Given the description of an element on the screen output the (x, y) to click on. 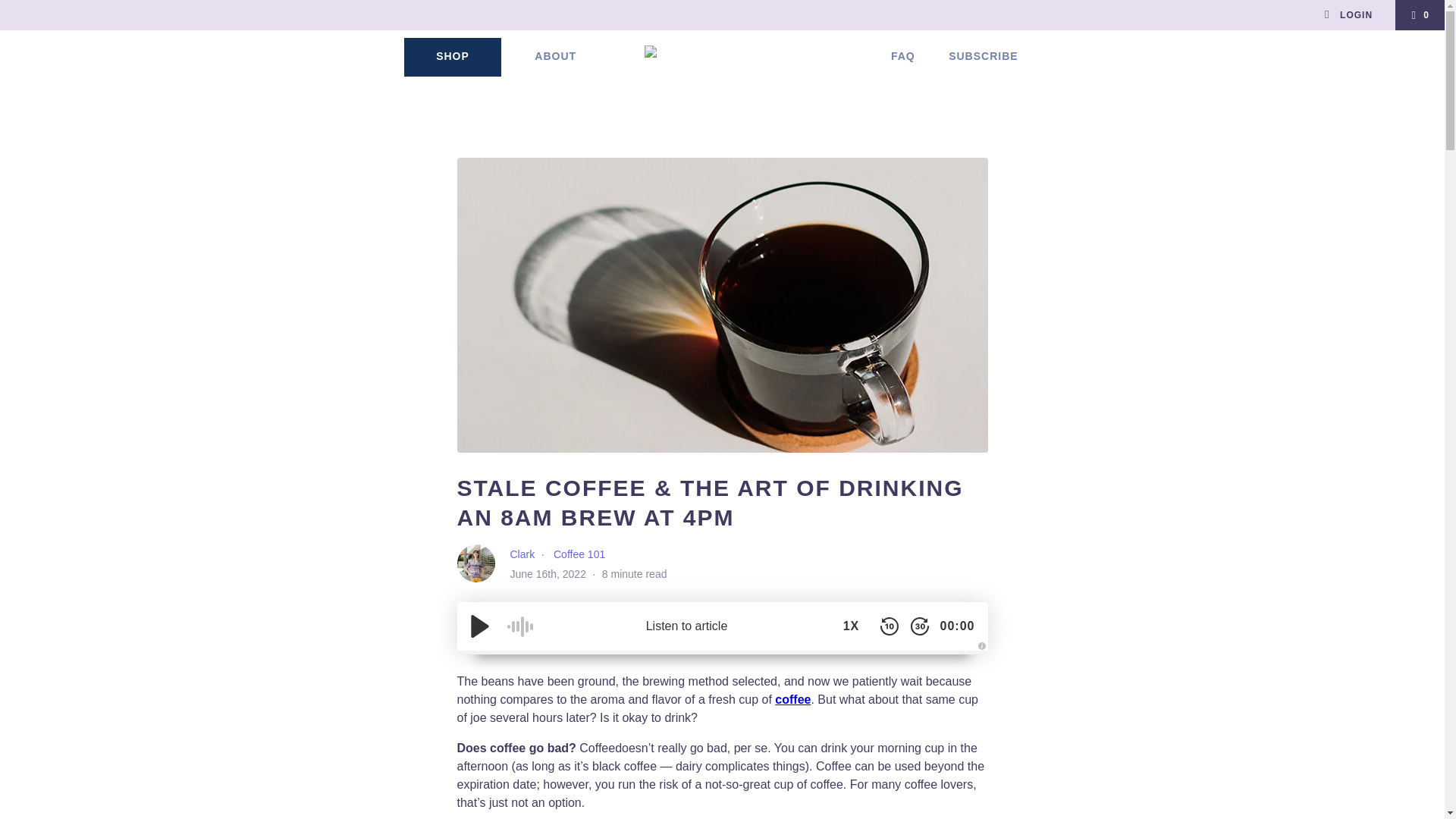
LOGIN (1347, 15)
Coffee 101 (579, 553)
coffee (792, 698)
SUBSCRIBE (983, 56)
My Account  (1347, 15)
Clark (521, 553)
1X (850, 625)
00:00 (956, 625)
Golden Ratio Coffee (722, 63)
ABOUT (555, 56)
